Given the description of an element on the screen output the (x, y) to click on. 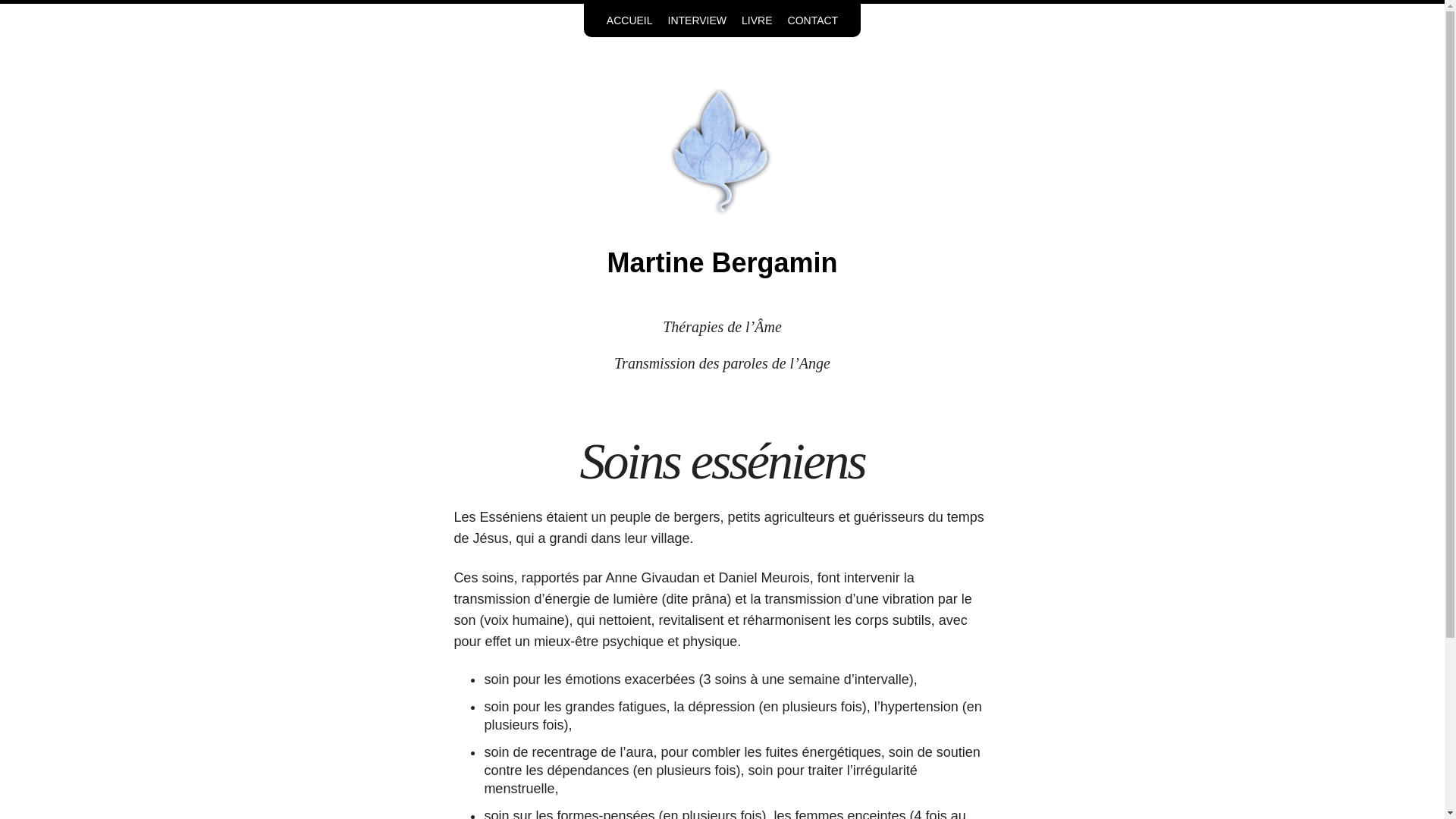
CONTACT Element type: text (813, 20)
ACCUEIL Element type: text (629, 20)
Martine Bergamin Element type: hover (721, 149)
INTERVIEW Element type: text (697, 20)
Martine Bergamin Element type: text (721, 262)
LIVRE Element type: text (756, 20)
